Given the description of an element on the screen output the (x, y) to click on. 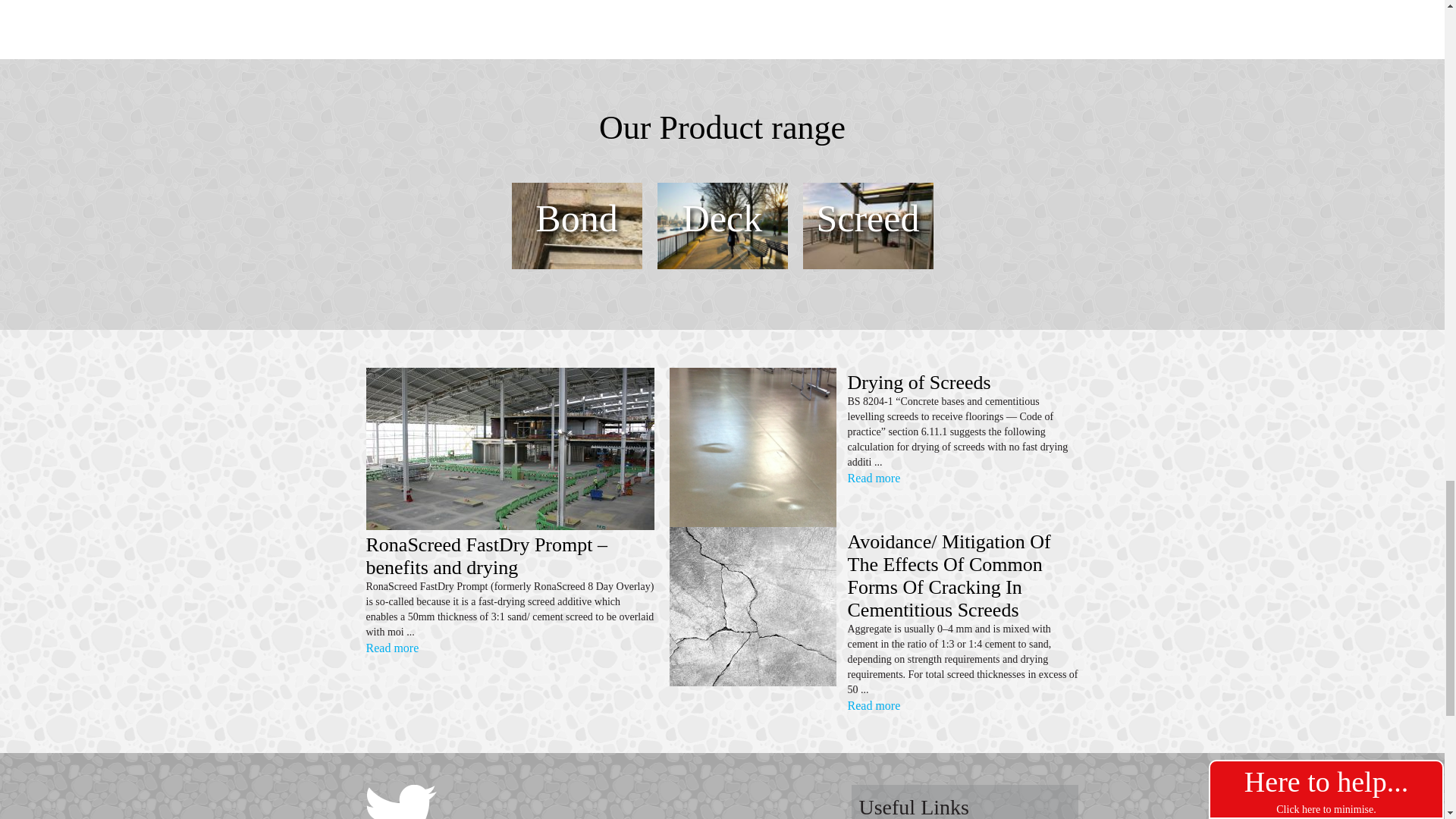
polymer-screeds (867, 226)
concrete-repair-mortars (576, 226)
item-2 (721, 226)
